Given the description of an element on the screen output the (x, y) to click on. 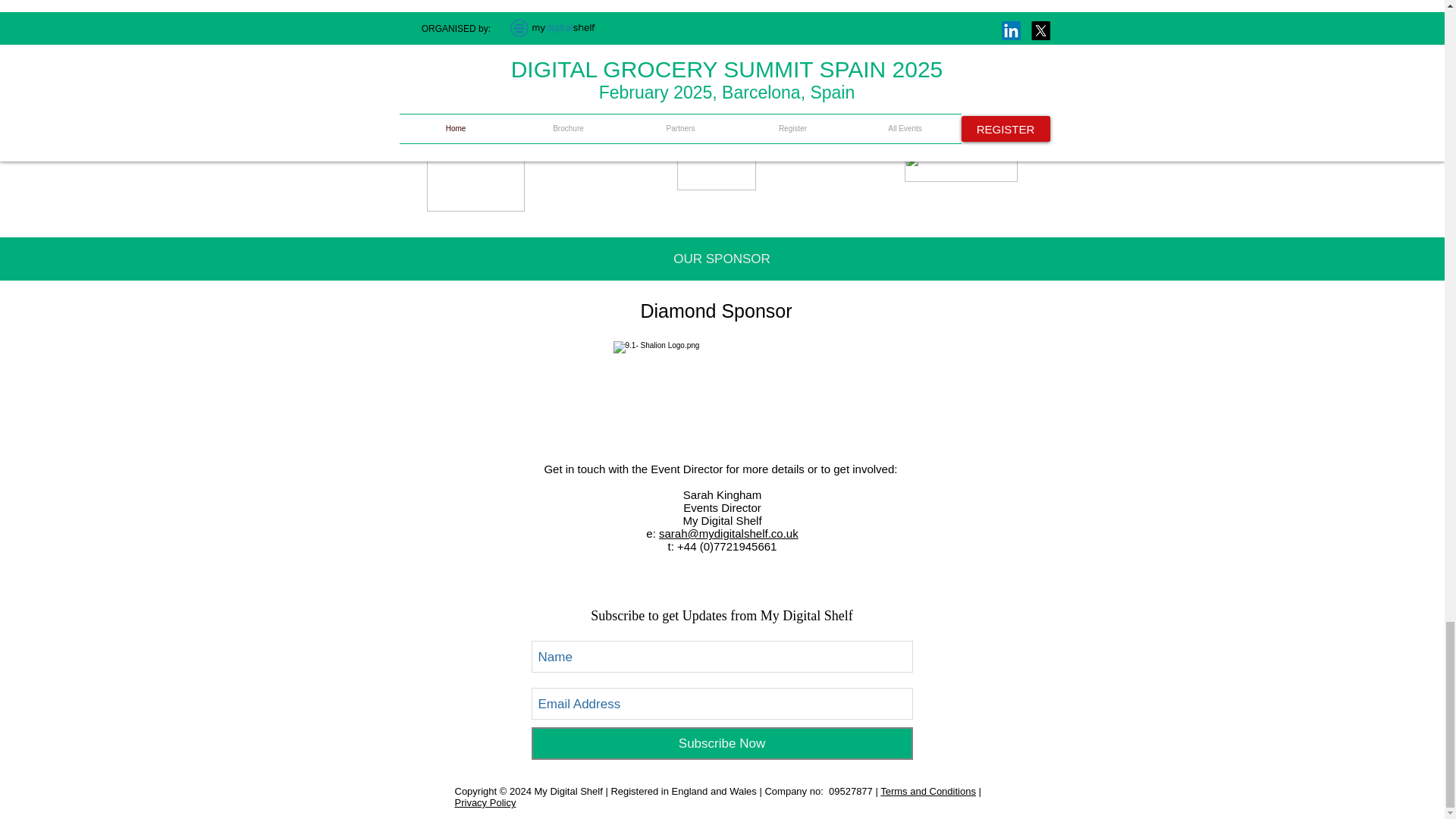
OUR SPONSOR (721, 258)
Privacy Policy (485, 802)
Subscribe Now (721, 743)
Terms and Conditions (927, 790)
